Given the description of an element on the screen output the (x, y) to click on. 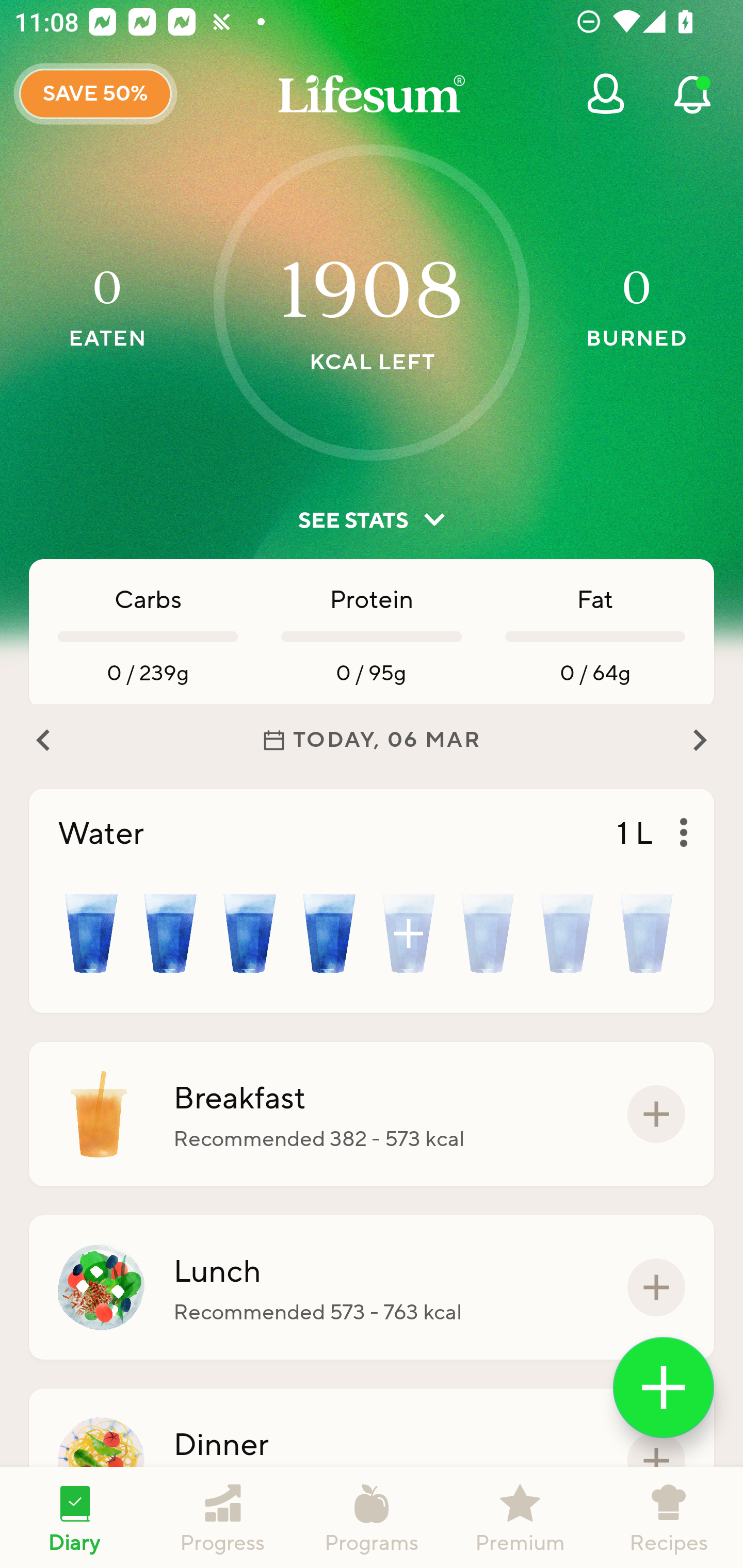
SEE STATS (371, 519)
TODAY, 06 MAR (371, 739)
Breakfast Recommended 382 - 573 kcal (371, 1113)
Lunch Recommended 573 - 763 kcal (371, 1287)
Dinner Recommended 573 - 763 kcal (371, 1461)
Progress (222, 1517)
Programs (371, 1517)
Premium (519, 1517)
Recipes (668, 1517)
